Given the description of an element on the screen output the (x, y) to click on. 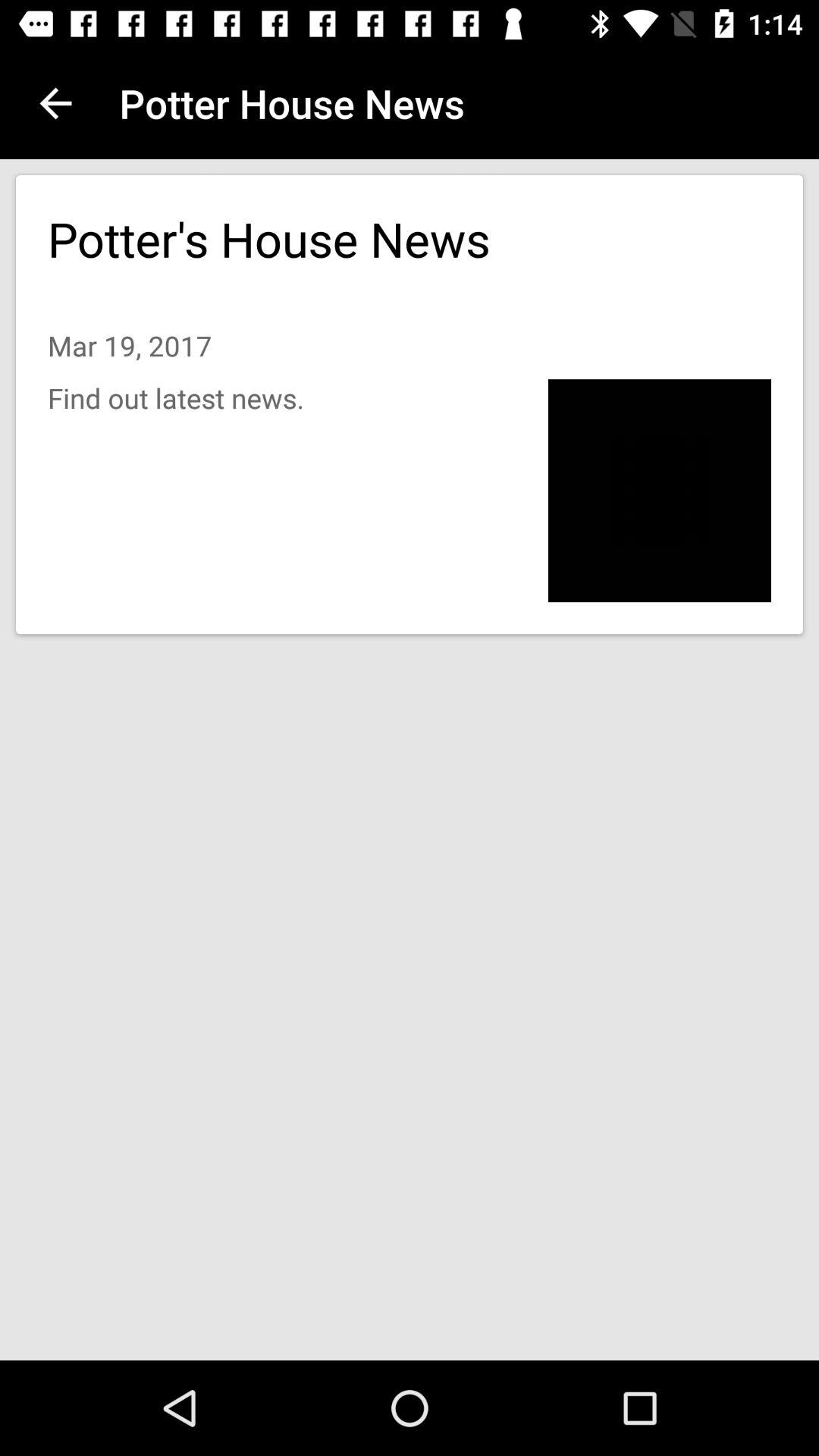
select item above the potter s house (55, 103)
